Given the description of an element on the screen output the (x, y) to click on. 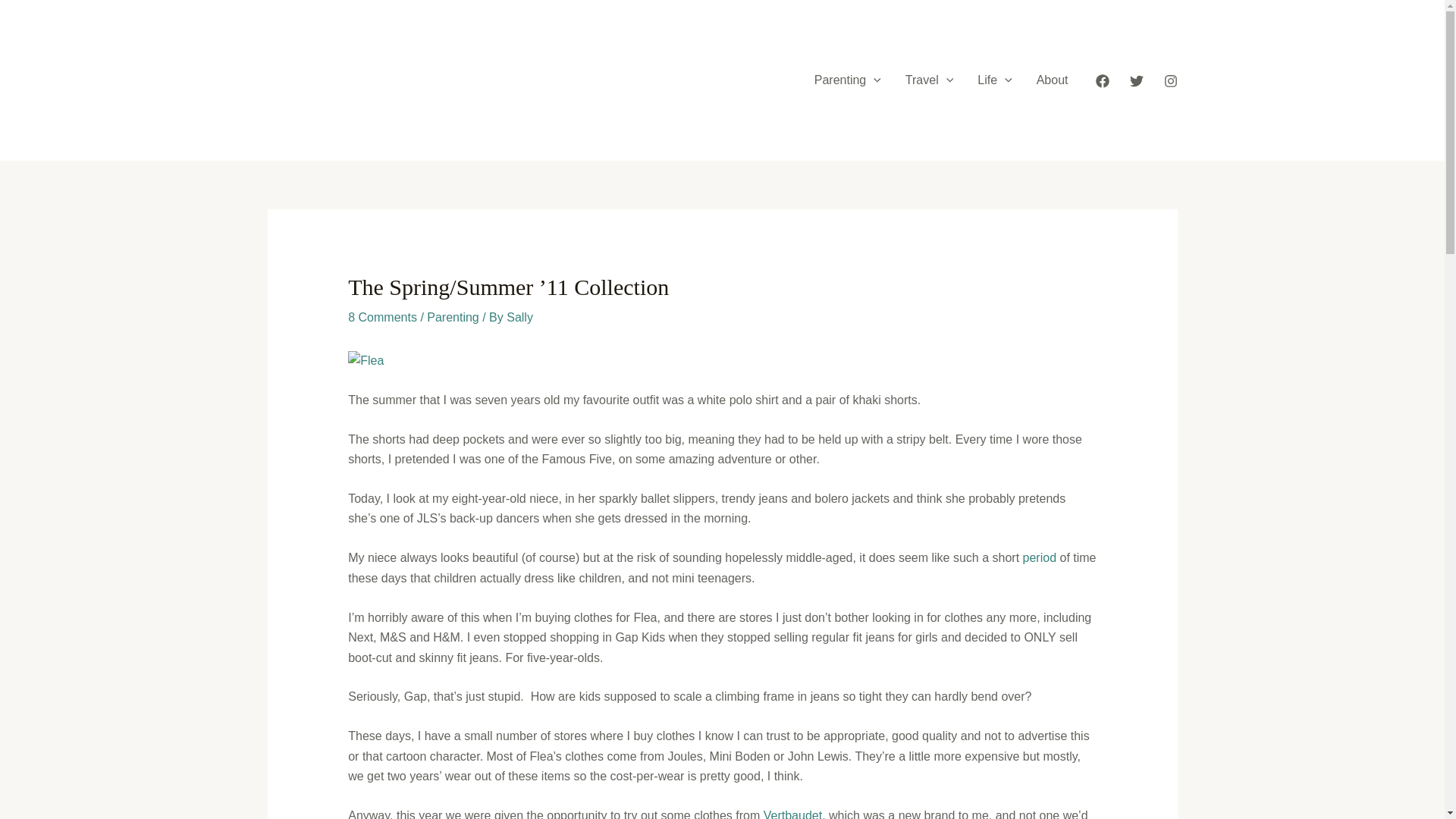
period (1040, 557)
Life (994, 80)
Parenting (847, 80)
Flea (721, 361)
View all posts by Sally (519, 317)
Travel (929, 80)
About (1052, 80)
